Given the description of an element on the screen output the (x, y) to click on. 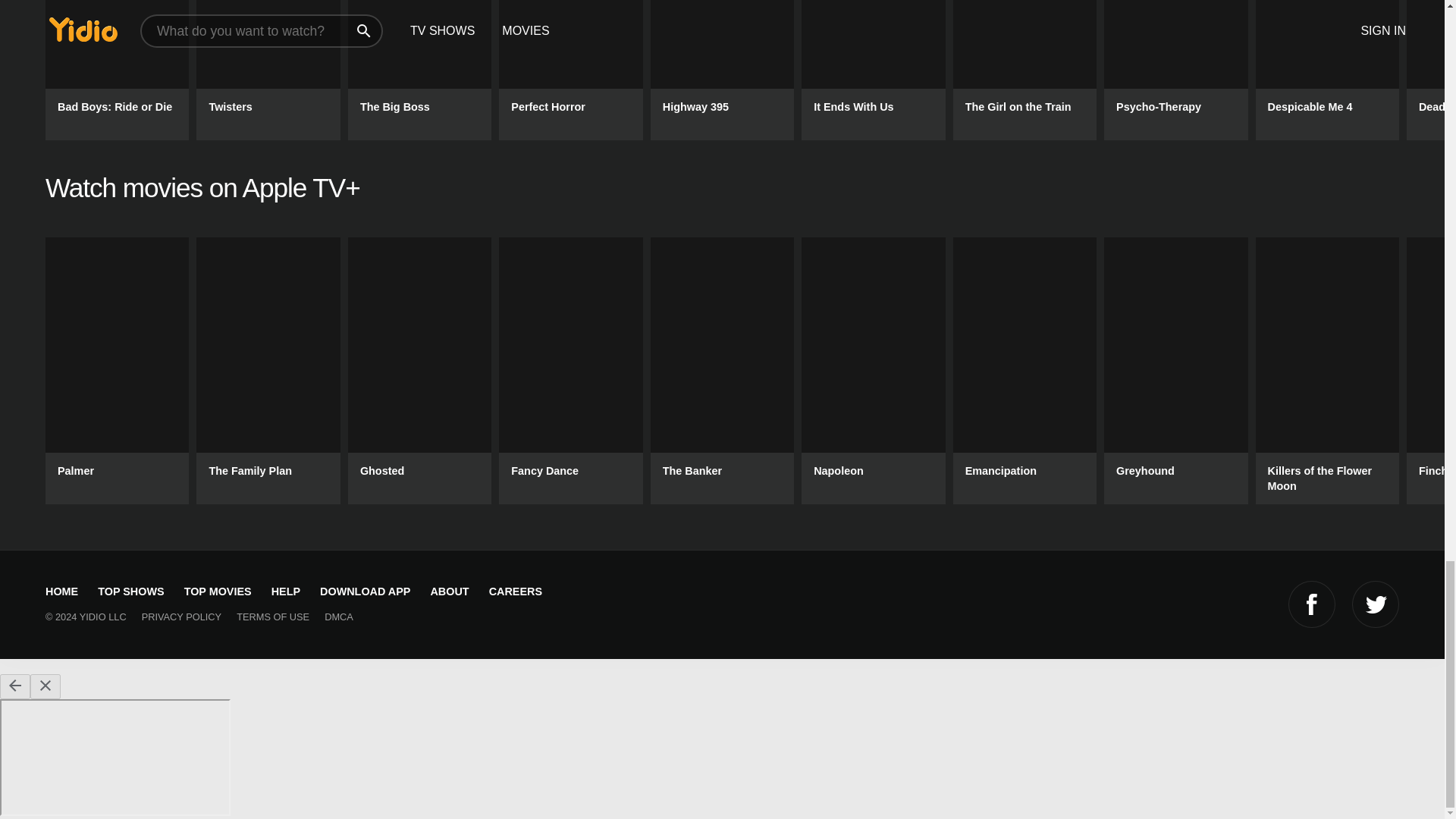
The Big Boss (419, 69)
Twitter (1375, 604)
Perfect Horror (570, 69)
Psycho-Therapy (1175, 69)
Twisters (267, 69)
Facebook (1311, 604)
Bad Boys: Ride or Die (117, 69)
It Ends With Us (873, 69)
Despicable Me 4 (1327, 69)
Highway 395 (721, 69)
